Given the description of an element on the screen output the (x, y) to click on. 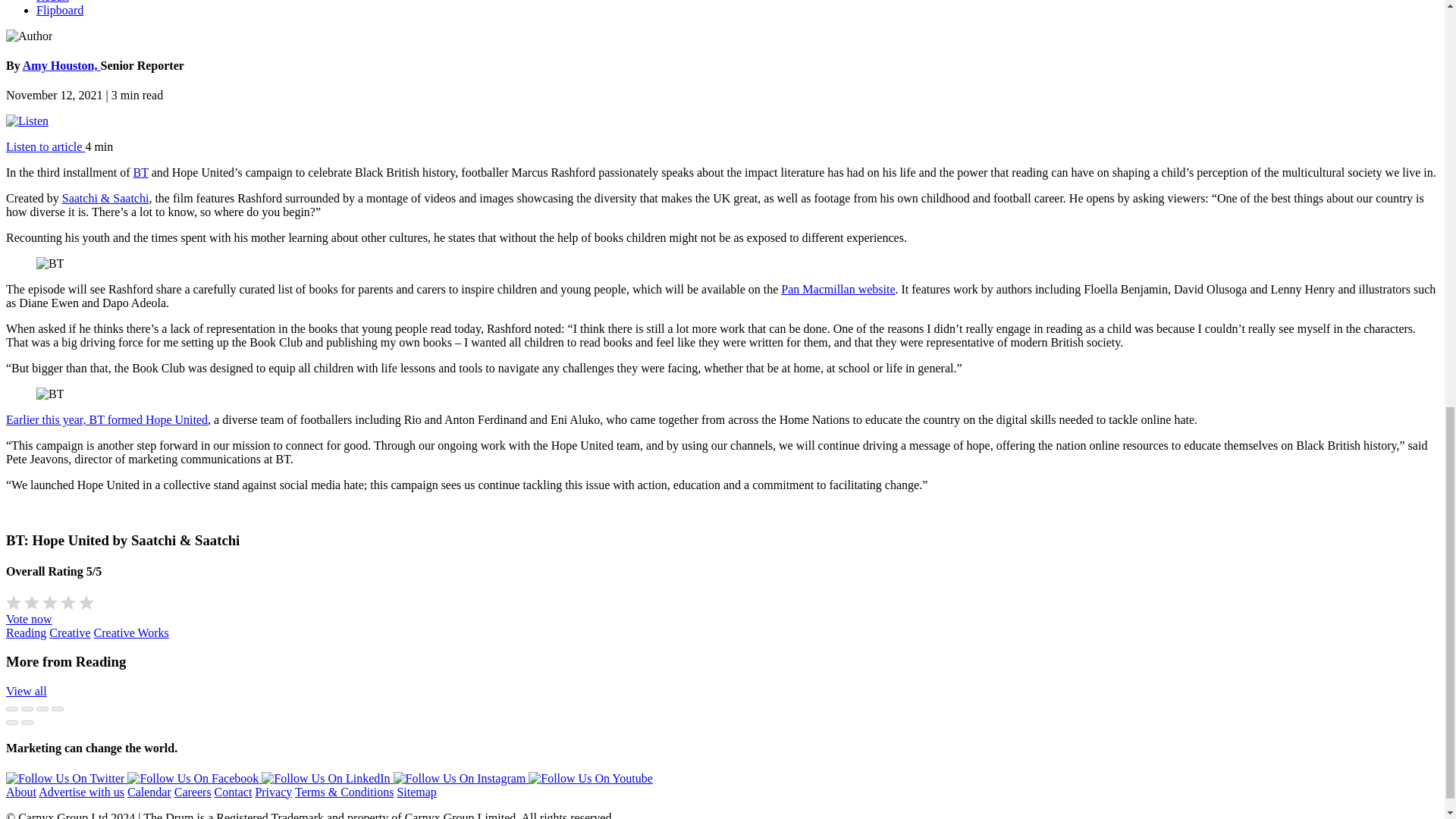
Creative Works (131, 632)
Toggle fullscreen (42, 708)
Calendar (149, 791)
BT (140, 172)
Earlier this year, BT formed Hope United (106, 419)
Vote now (28, 618)
Advertise with us (81, 791)
Creative (69, 632)
Careers (192, 791)
Share (27, 708)
